Given the description of an element on the screen output the (x, y) to click on. 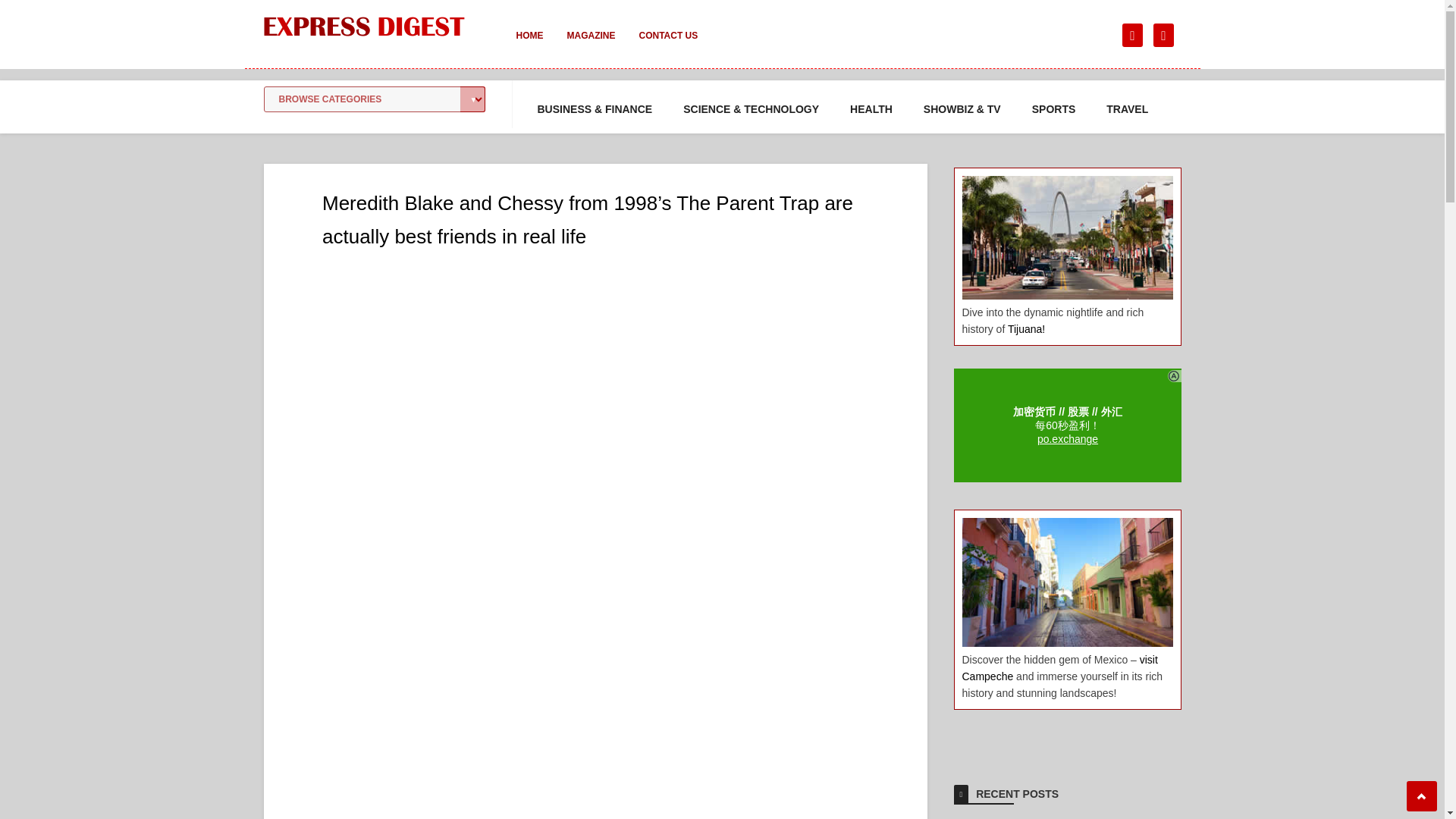
Tijuana! (1026, 328)
CONTACT US (667, 45)
visit Campeche (1058, 667)
HOME (528, 45)
HEALTH (871, 109)
TRAVEL (1127, 109)
MAGAZINE (590, 45)
SPORTS (1053, 109)
